Given the description of an element on the screen output the (x, y) to click on. 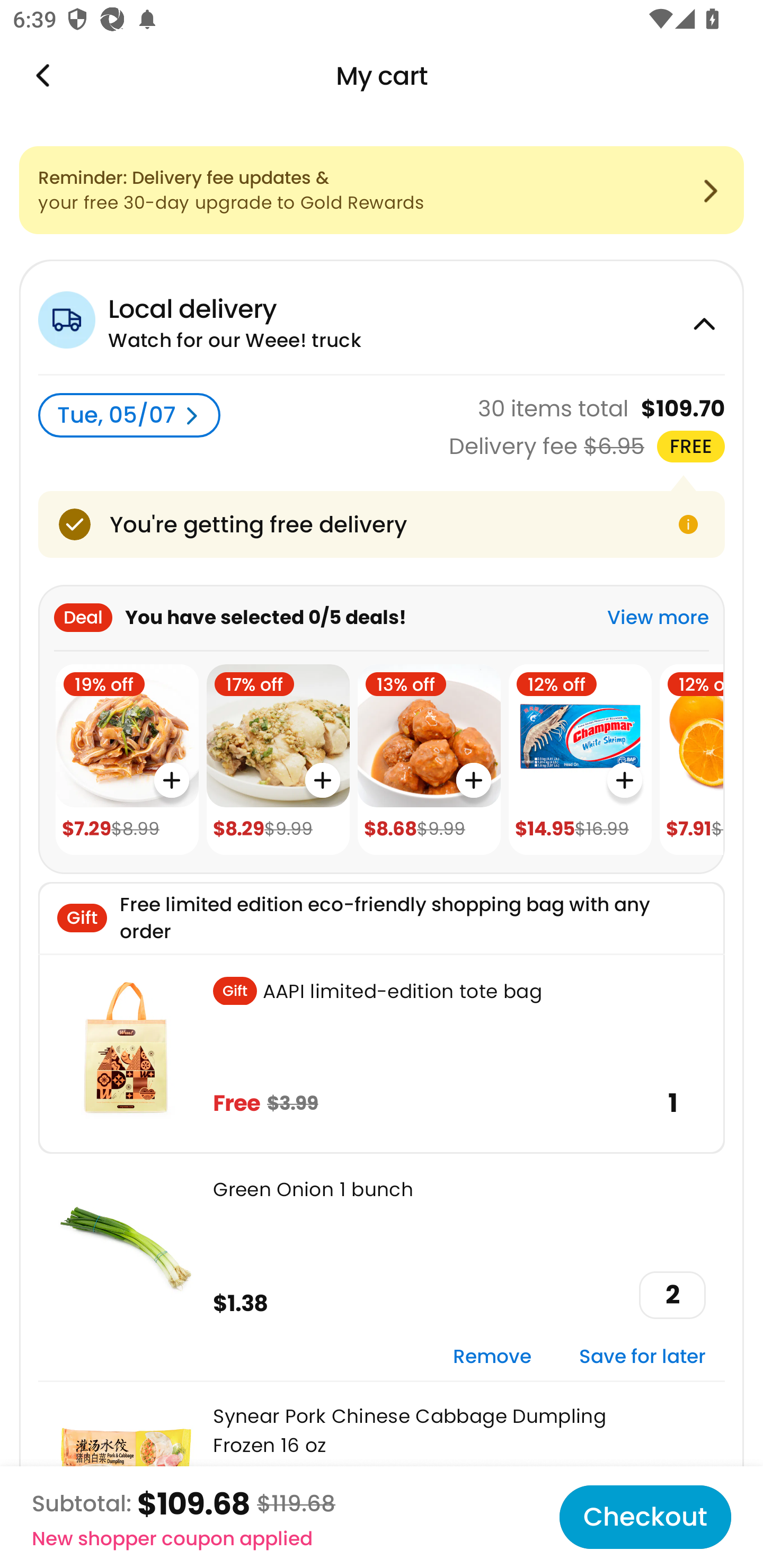
Local delivery Watch for our Weee! truck (381, 317)
Tue, 05/07 (129, 415)
You're getting free delivery (381, 524)
19% off $7.29 $8.99 (126, 759)
17% off $8.29 $9.99 (277, 759)
13% off $8.68 $9.99 (428, 759)
12% off $14.95 $16.99 (579, 759)
. AAPI limited-edition tote bag Free $3.99 1 (381, 1053)
Green Onion 1 bunch $1.38 2 Remove Save for later (381, 1266)
2 (672, 1294)
Remove (491, 1356)
Save for later (642, 1356)
Checkout (644, 1516)
